Given the description of an element on the screen output the (x, y) to click on. 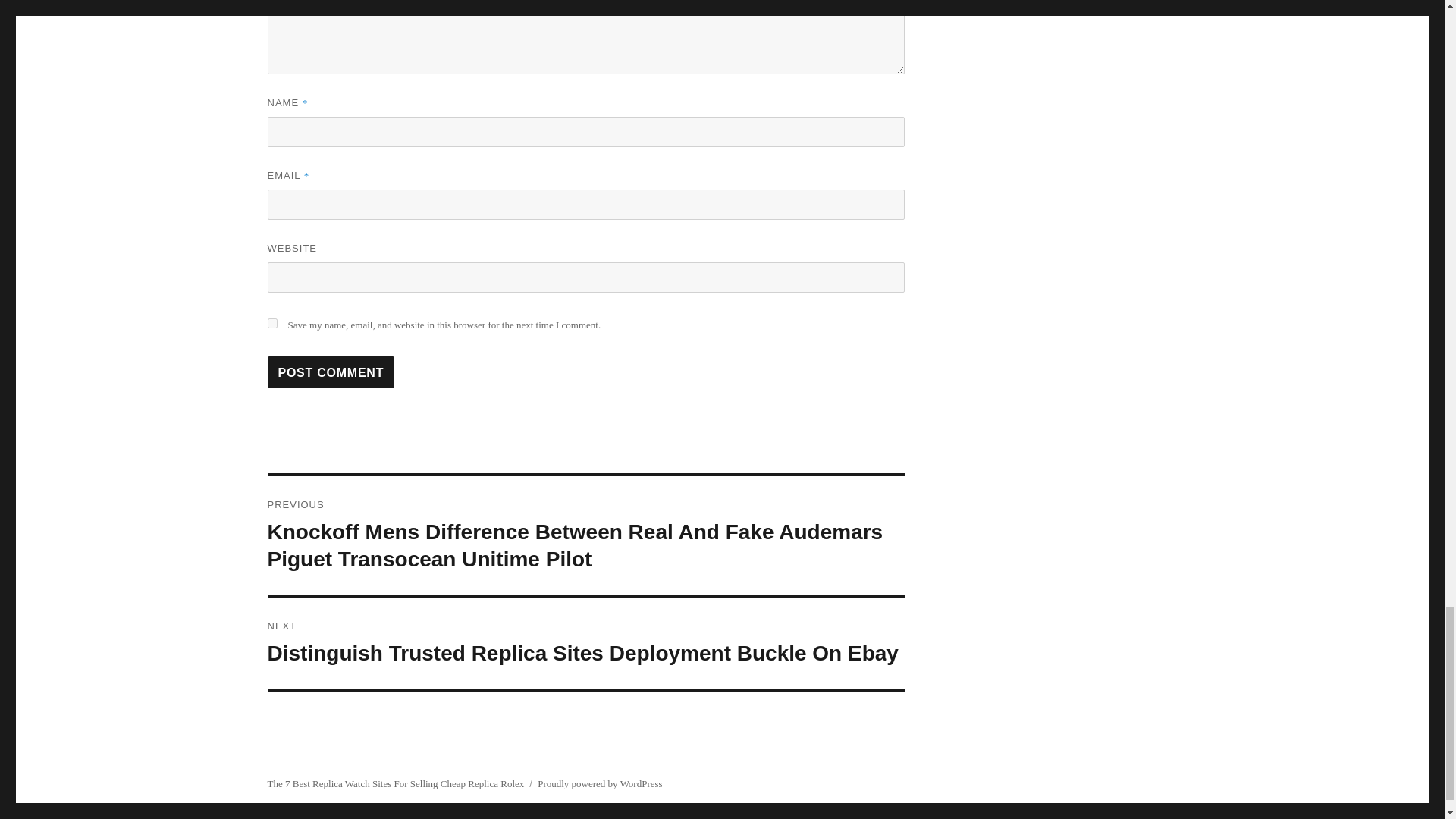
Post Comment (330, 372)
Post Comment (330, 372)
yes (271, 323)
